Given the description of an element on the screen output the (x, y) to click on. 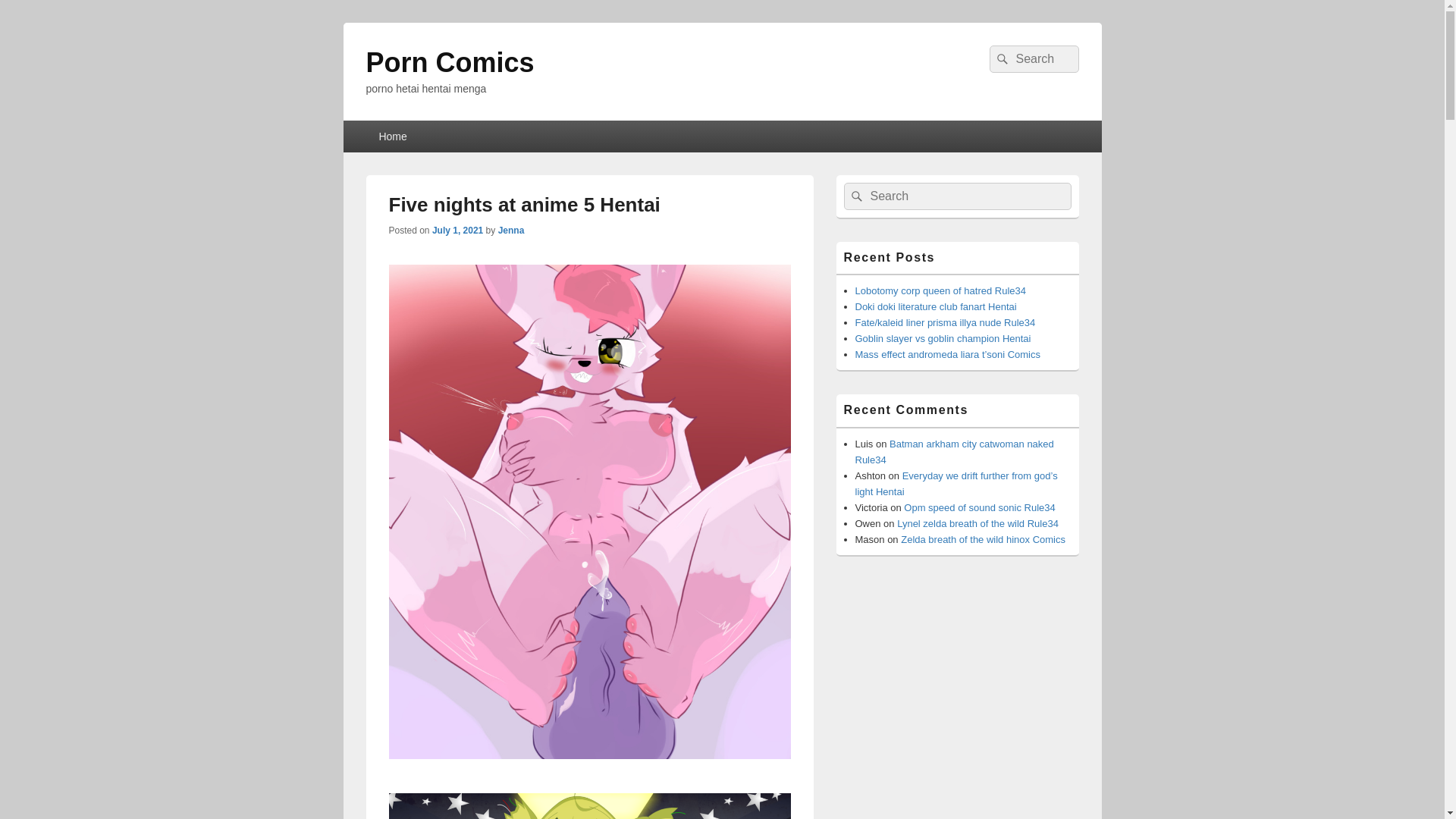
3:29 am (457, 230)
Search for: (956, 195)
Lynel zelda breath of the wild Rule34 (977, 523)
Home (392, 136)
Batman arkham city catwoman naked Rule34 (955, 452)
Lobotomy corp queen of hatred Rule34 (941, 290)
Porn Comics (449, 61)
Search for: (1033, 58)
Jenna (510, 230)
View all posts by Jenna (510, 230)
Zelda breath of the wild hinox Comics (983, 539)
July 1, 2021 (457, 230)
Doki doki literature club fanart Hentai (936, 306)
Opm speed of sound sonic Rule34 (979, 507)
Goblin slayer vs goblin champion Hentai (943, 337)
